Given the description of an element on the screen output the (x, y) to click on. 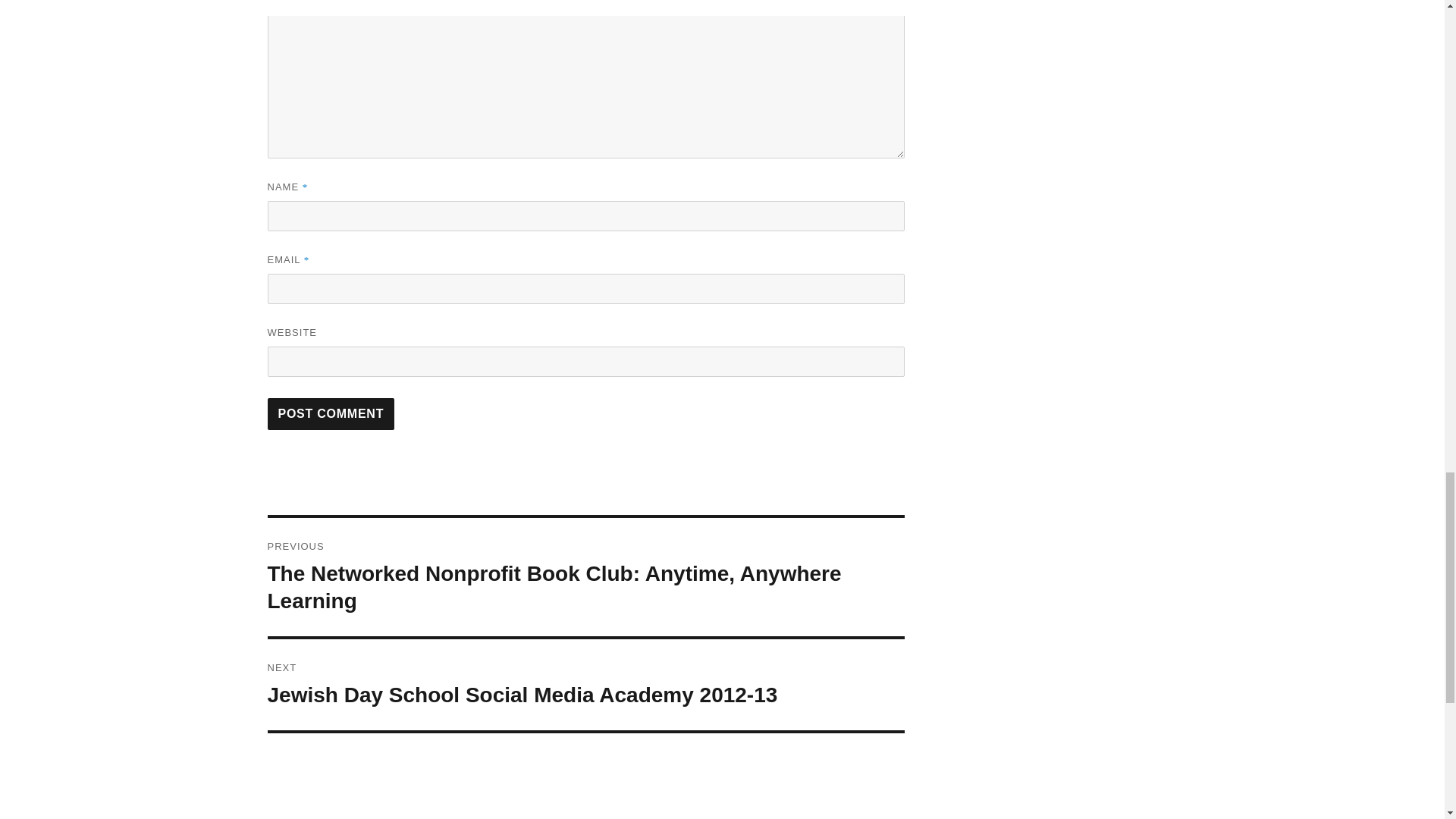
Post Comment (330, 413)
Post Comment (330, 413)
